Given the description of an element on the screen output the (x, y) to click on. 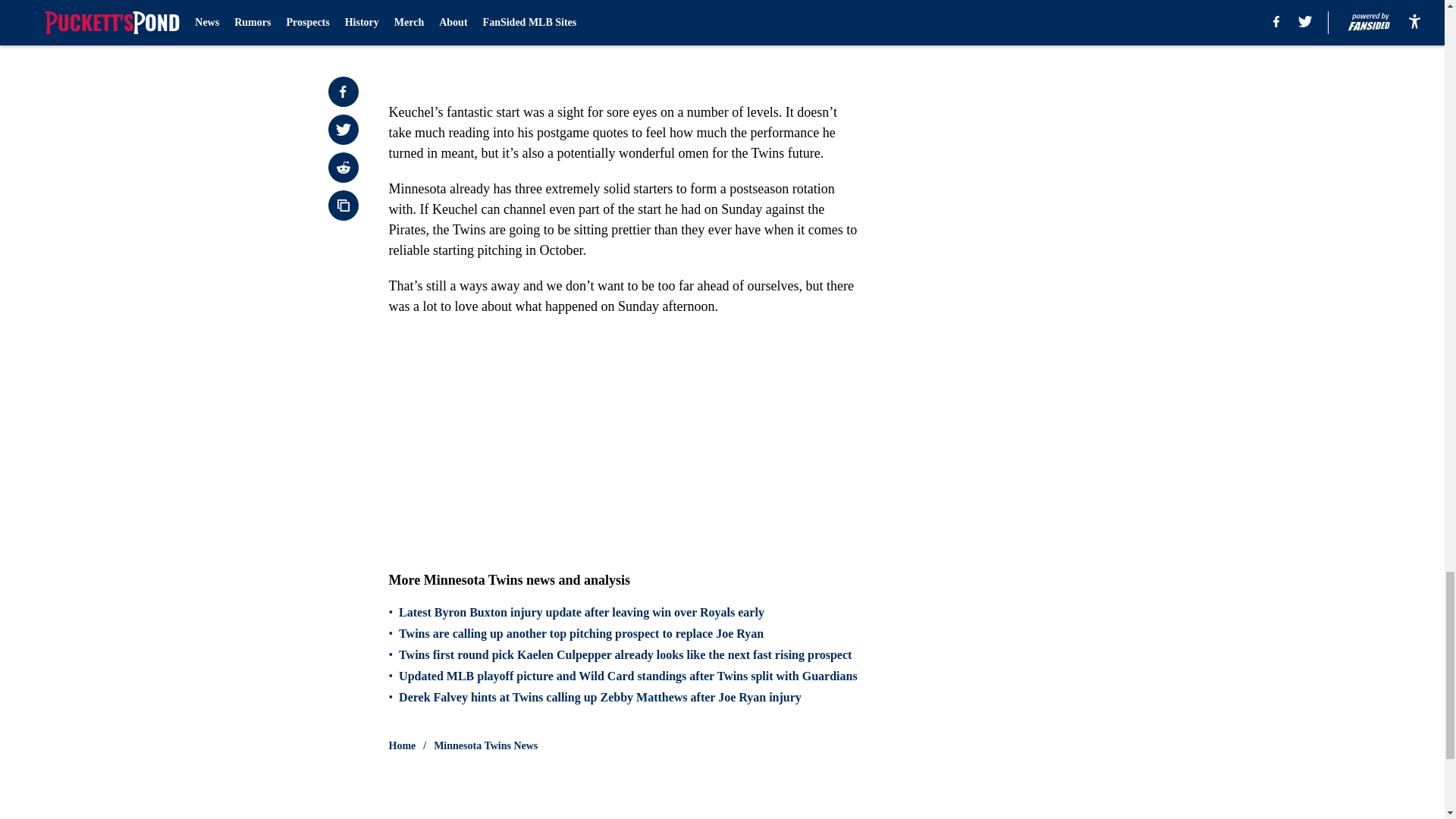
Home (401, 745)
Minnesota Twins News (485, 745)
